Given the description of an element on the screen output the (x, y) to click on. 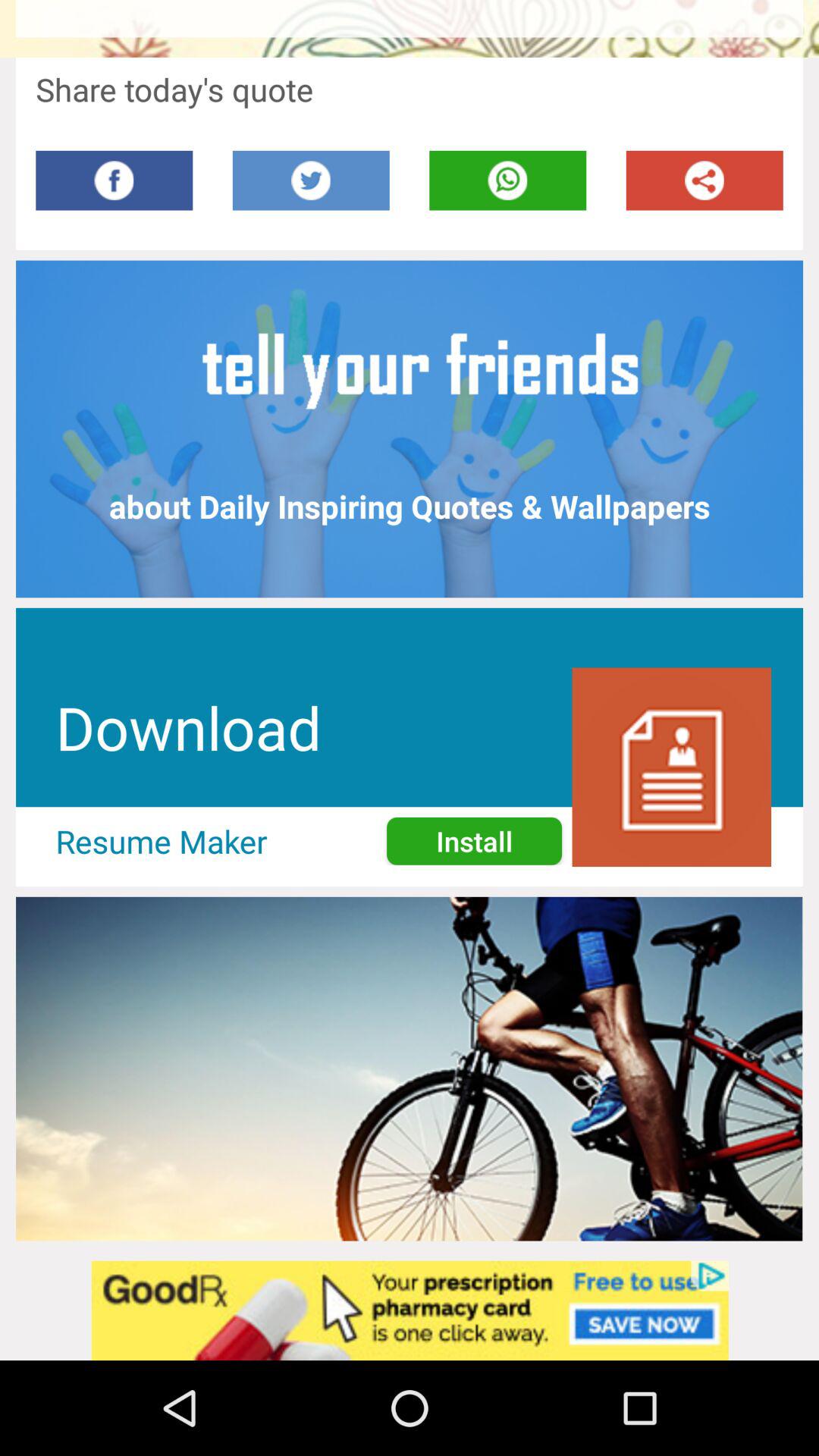
facebook option (113, 180)
